Given the description of an element on the screen output the (x, y) to click on. 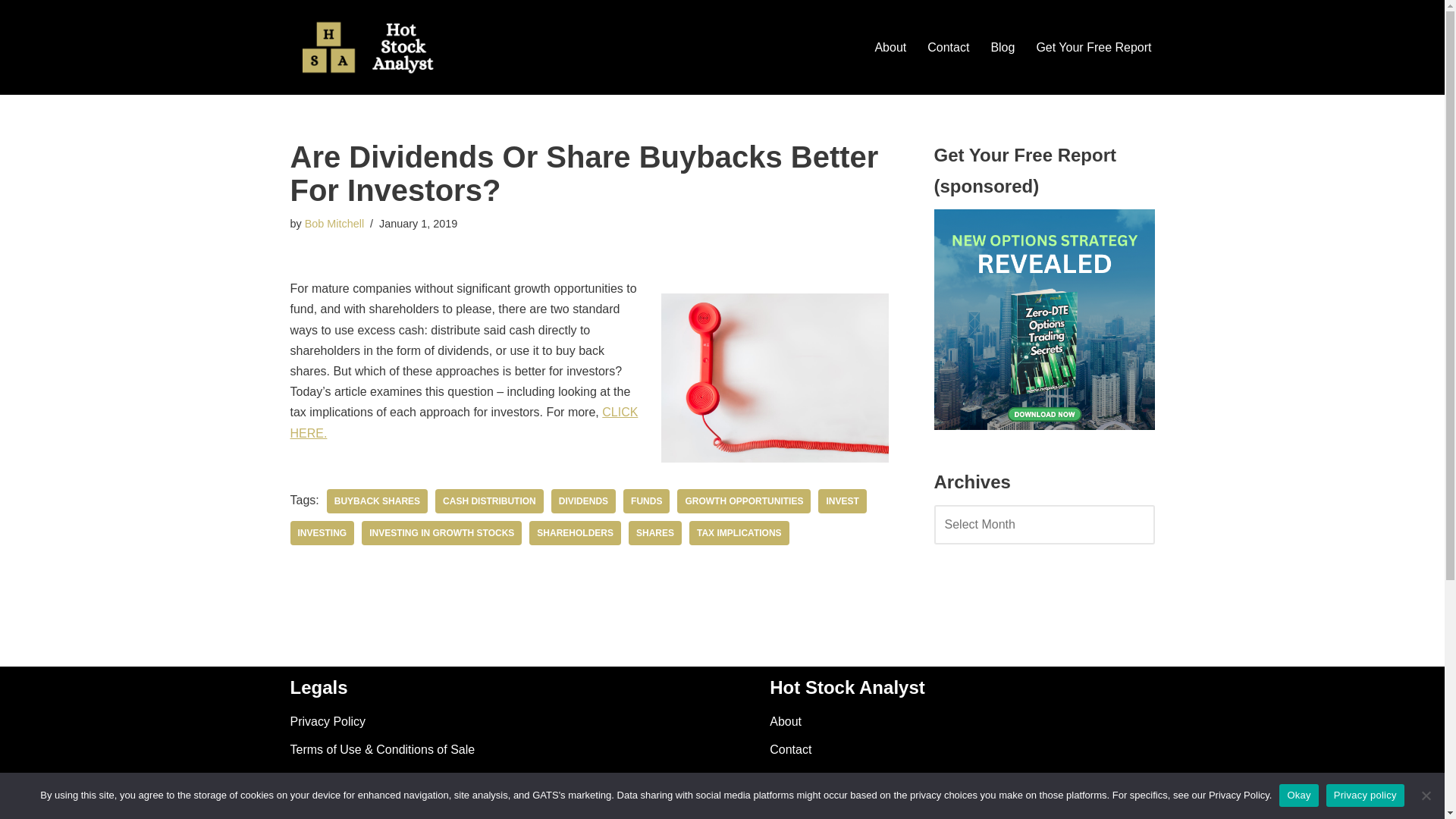
Cash Distribution (489, 500)
About (890, 46)
INVESTING (321, 532)
Contact (948, 46)
INVESTING IN GROWTH STOCKS (441, 532)
Shareholders (575, 532)
Privacy Policy (327, 721)
Funds (646, 500)
17B Disclosures GATS (350, 805)
Blog (1002, 46)
DIVIDENDS (583, 500)
Posts by Bob Mitchell (334, 223)
Investing In Growth Stocks (441, 532)
INVEST (842, 500)
Growth Opportunities (743, 500)
